Given the description of an element on the screen output the (x, y) to click on. 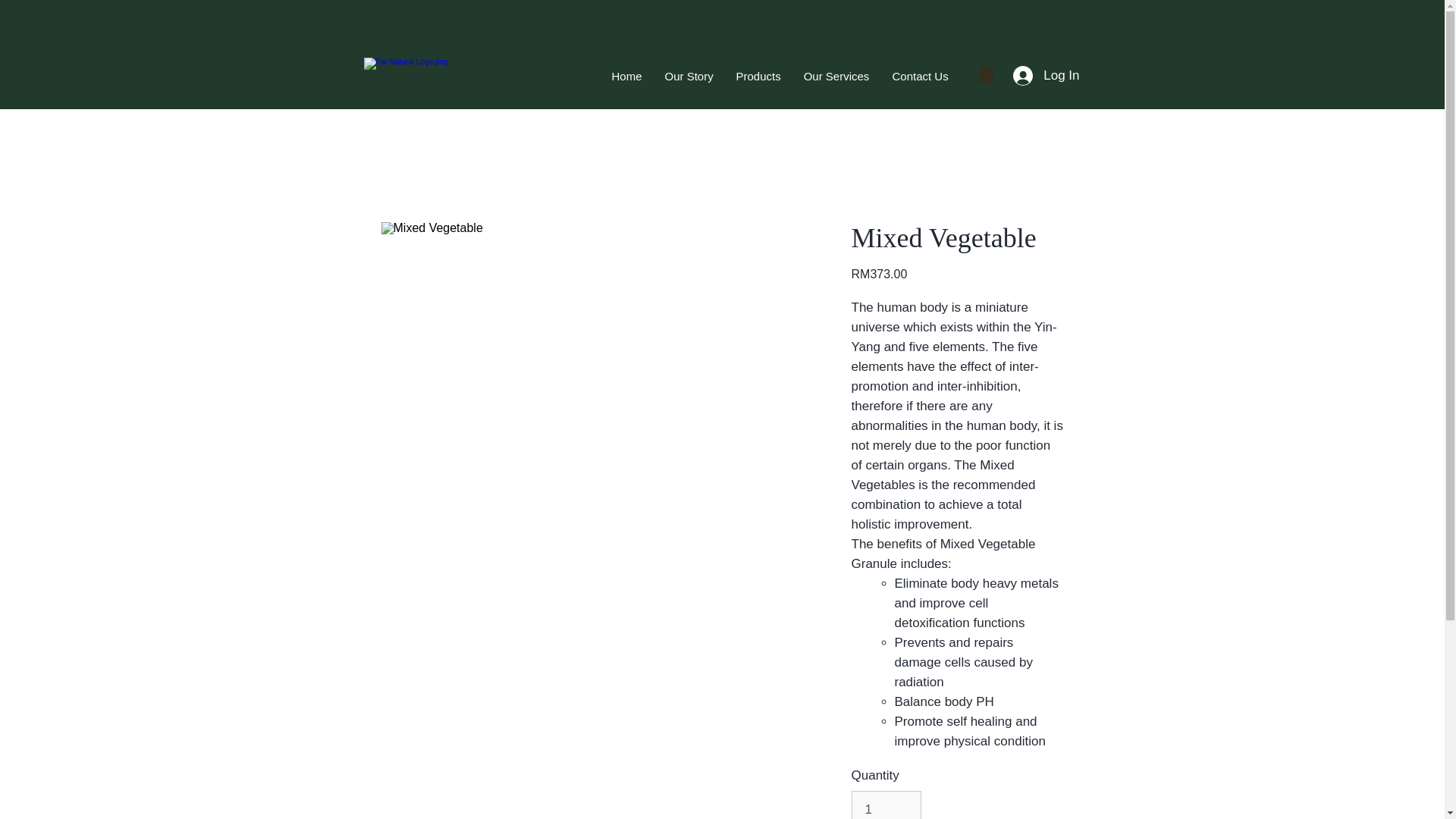
Log In (1046, 75)
Our Services (836, 76)
Home (626, 76)
Our Story (689, 76)
1 (885, 805)
Contact Us (919, 76)
Products (758, 76)
